Given the description of an element on the screen output the (x, y) to click on. 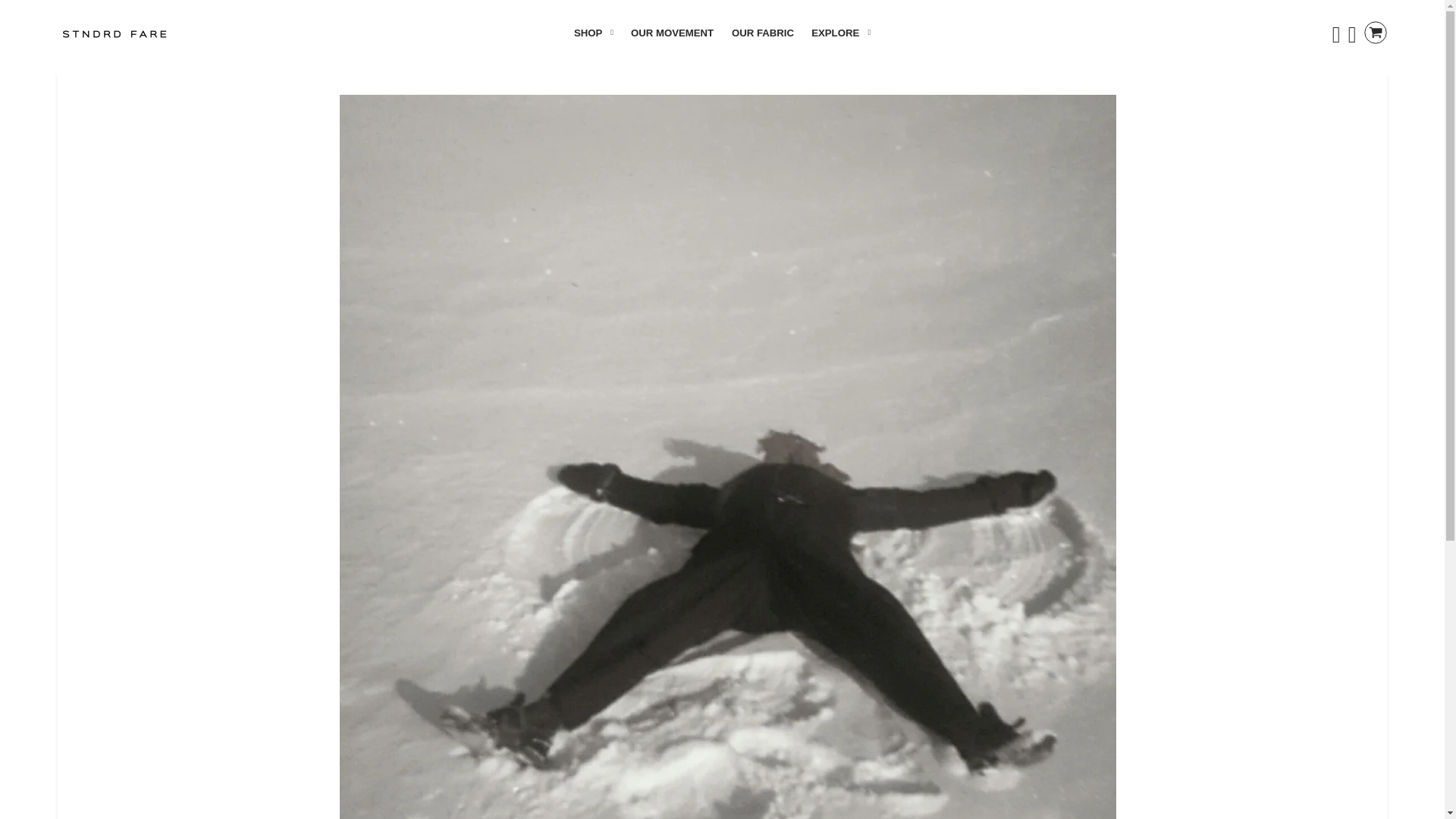
SHOP (593, 32)
OUR MOVEMENT (671, 32)
OUR FABRIC (762, 32)
EXPLORE (840, 32)
